Given the description of an element on the screen output the (x, y) to click on. 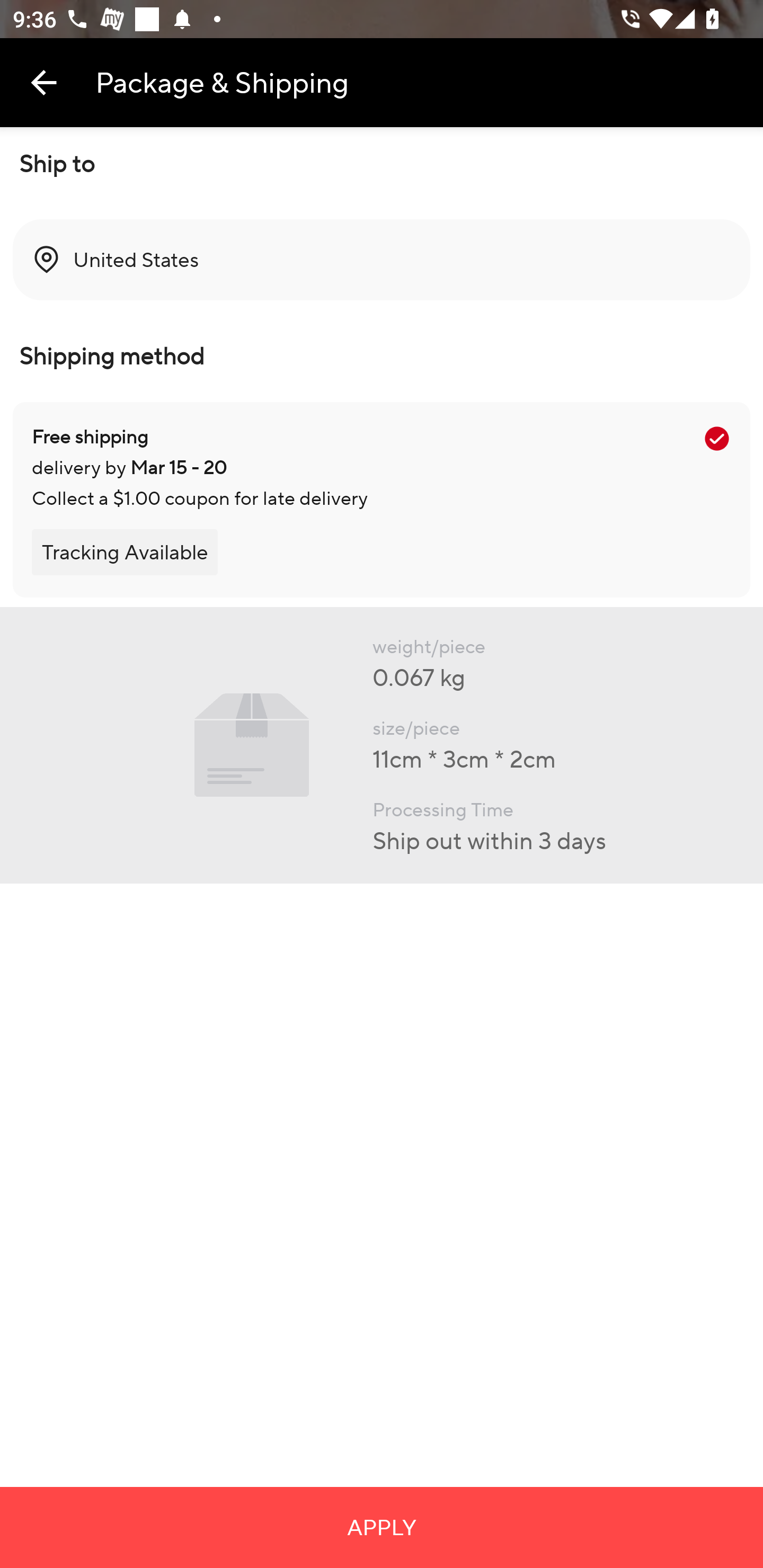
 United States (381, 260)
APPLY (381, 1527)
